Given the description of an element on the screen output the (x, y) to click on. 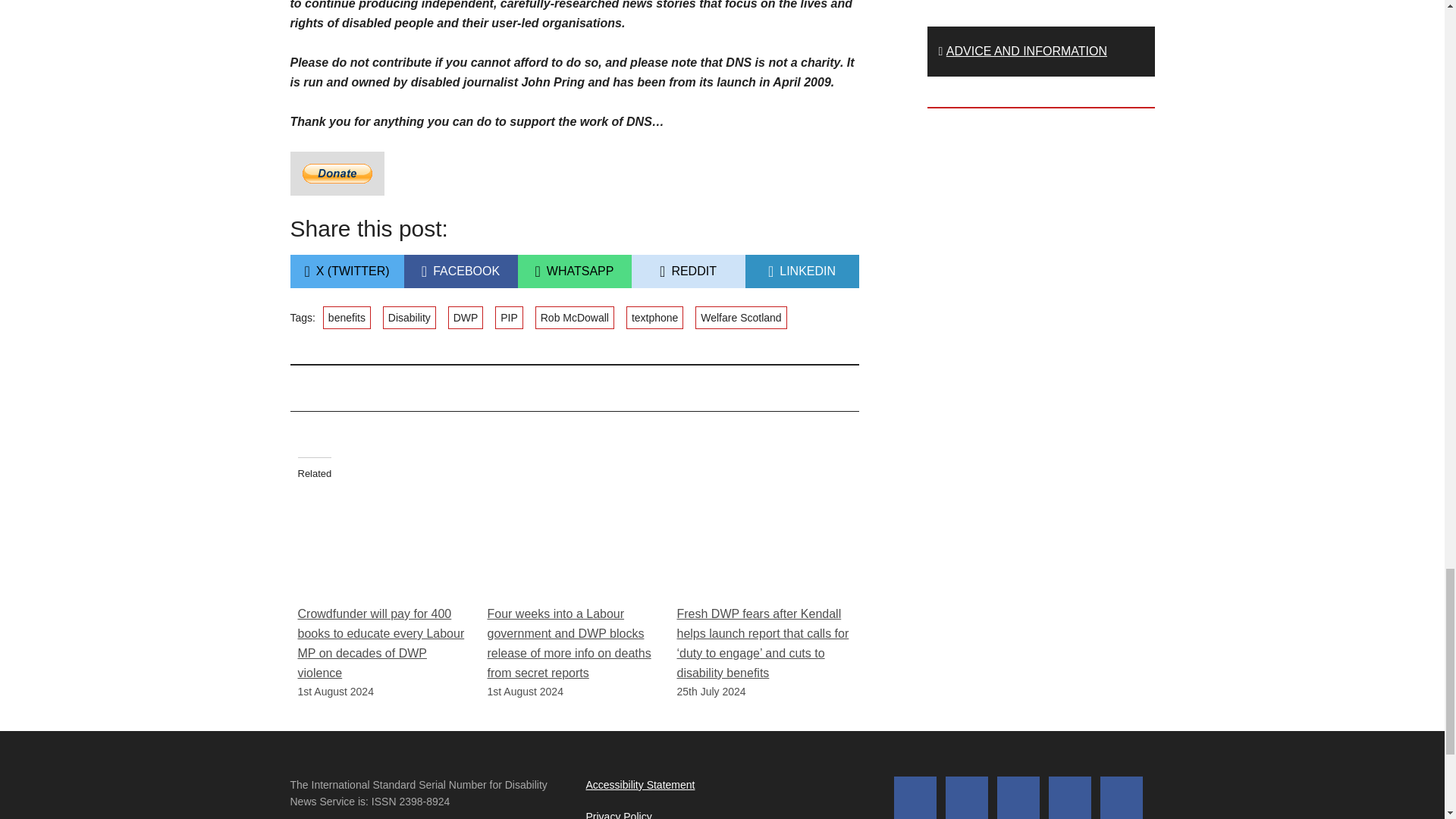
DWP (459, 271)
benefits (801, 271)
PIP (465, 317)
Disability (573, 271)
